Given the description of an element on the screen output the (x, y) to click on. 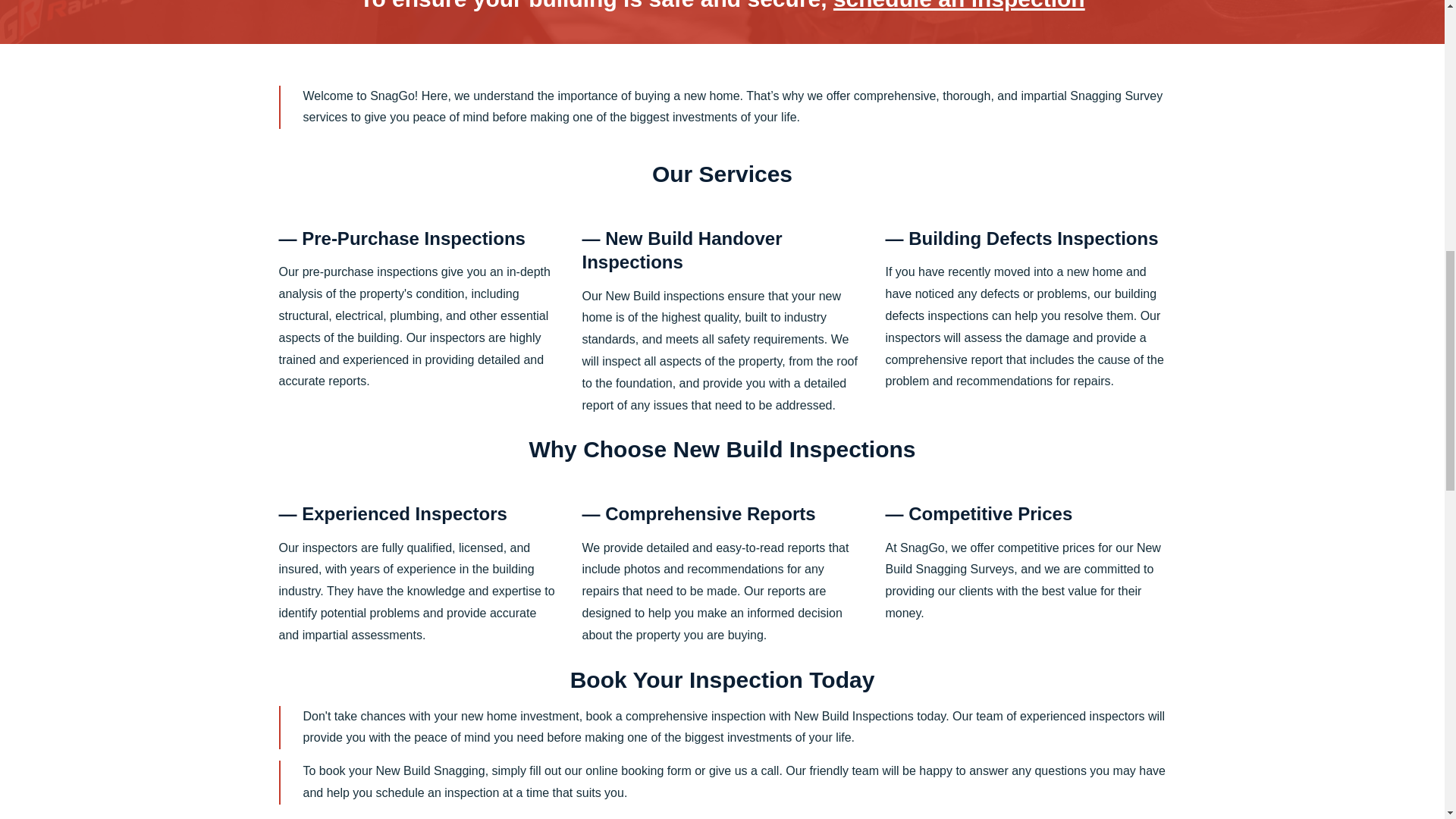
schedule an inspection (958, 5)
